Given the description of an element on the screen output the (x, y) to click on. 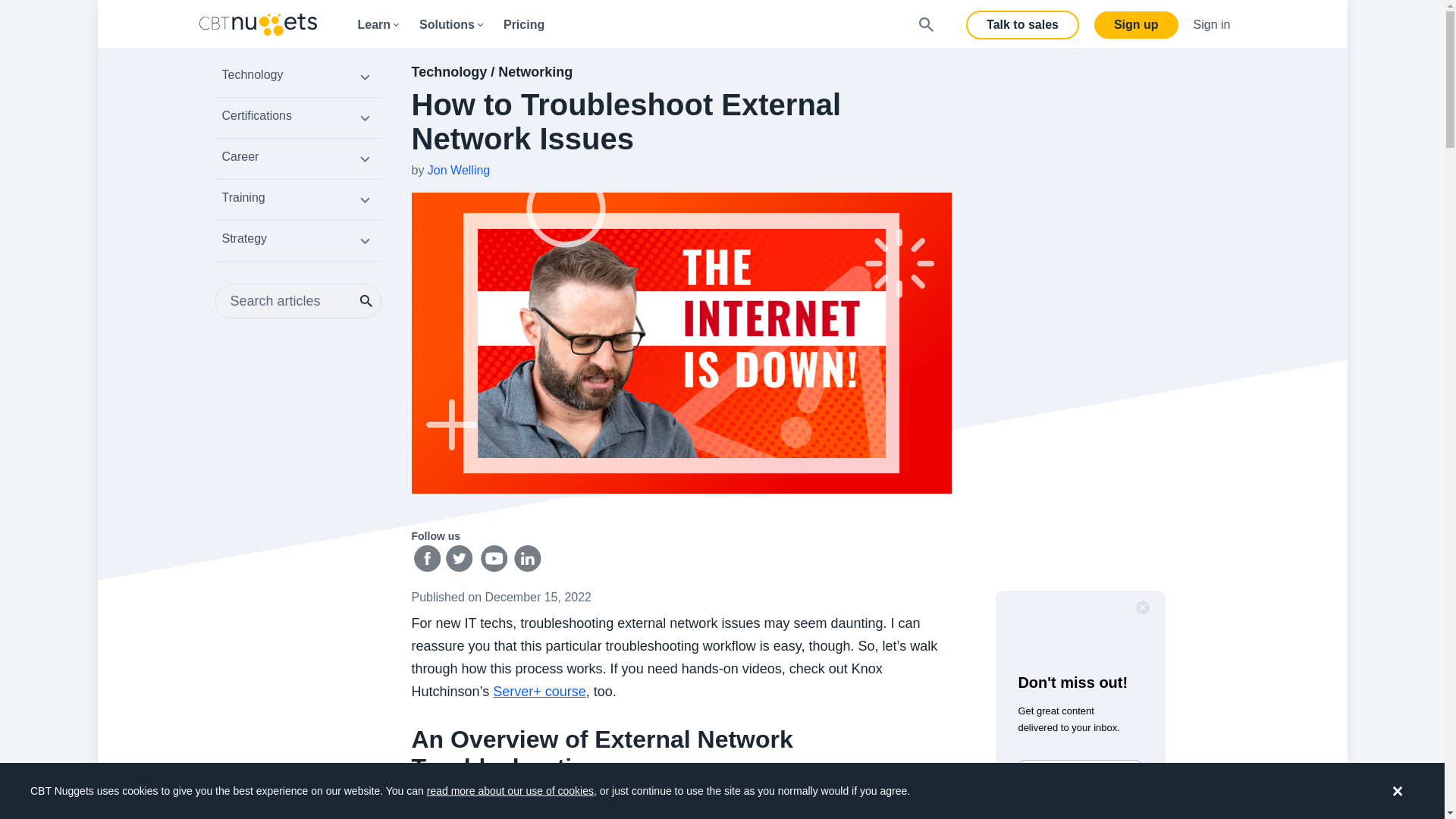
Sign up (1135, 23)
Learn (378, 24)
read more about our use of cookies (510, 790)
Talk to sales (1022, 24)
Technology (297, 78)
Sign in (1211, 24)
Solutions (451, 24)
Pricing (523, 24)
